Given the description of an element on the screen output the (x, y) to click on. 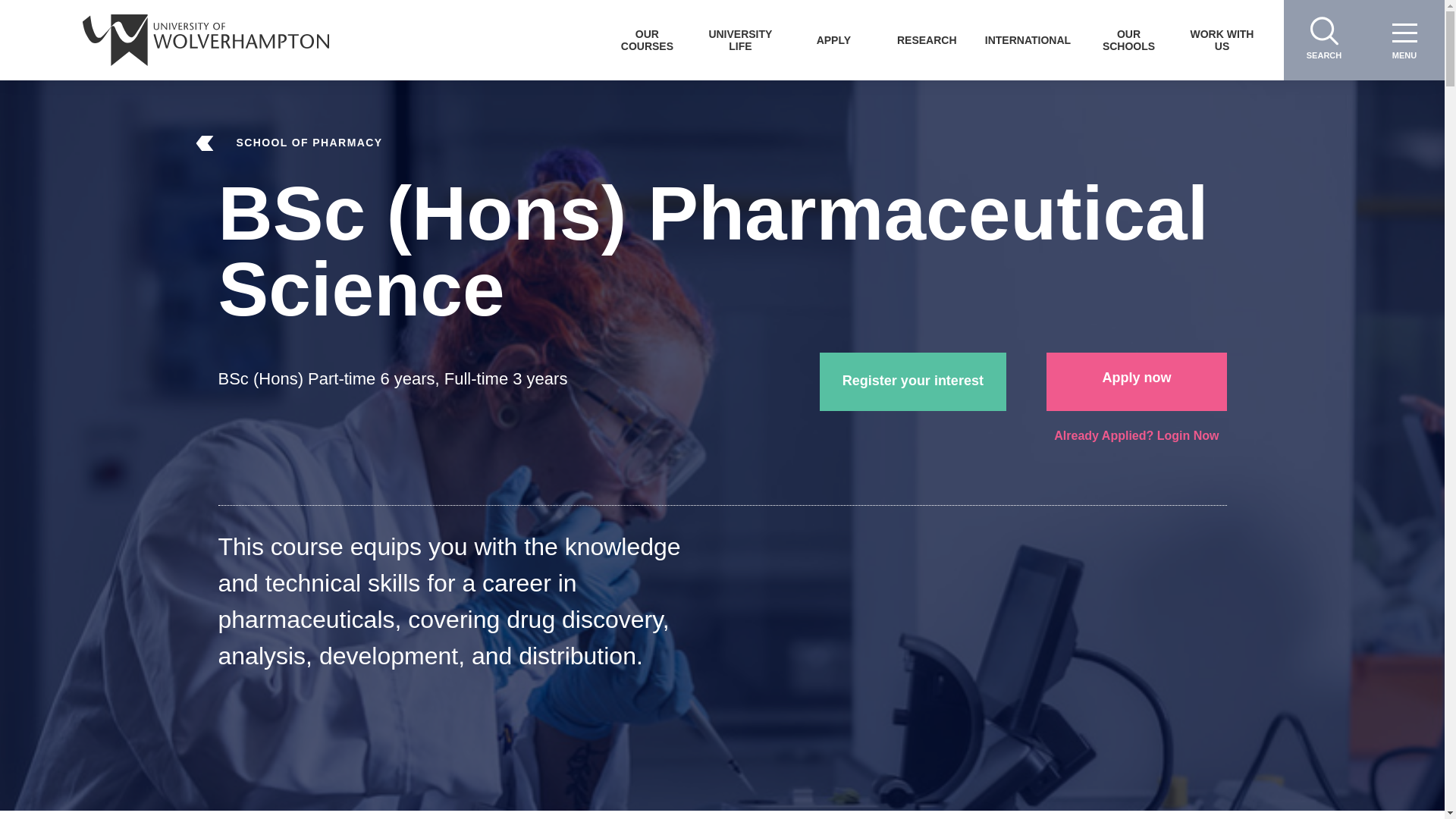
University of Wolverhampton Home (205, 39)
Our Courses (646, 40)
OUR COURSES (646, 40)
